Given the description of an element on the screen output the (x, y) to click on. 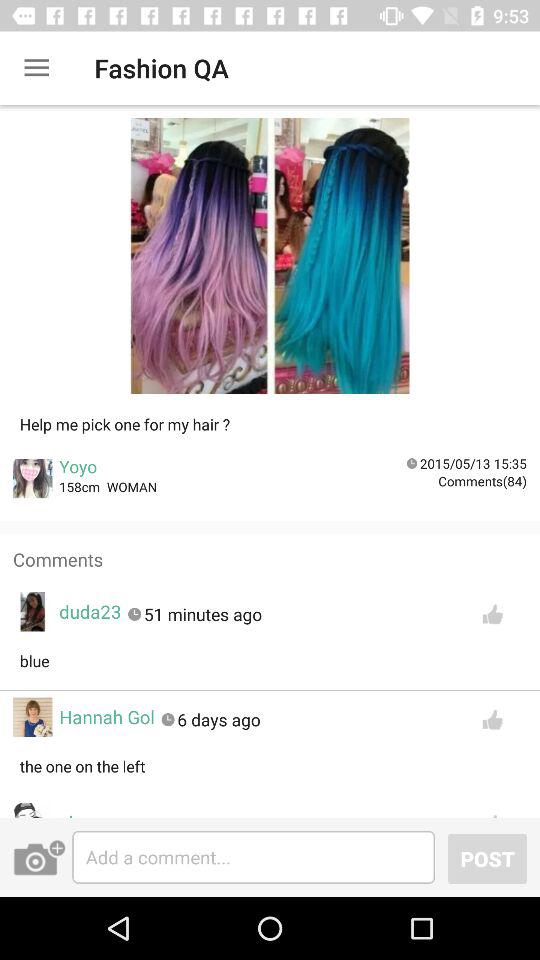
click on the first box (269, 262)
click on the timer symbol (411, 464)
